Given the description of an element on the screen output the (x, y) to click on. 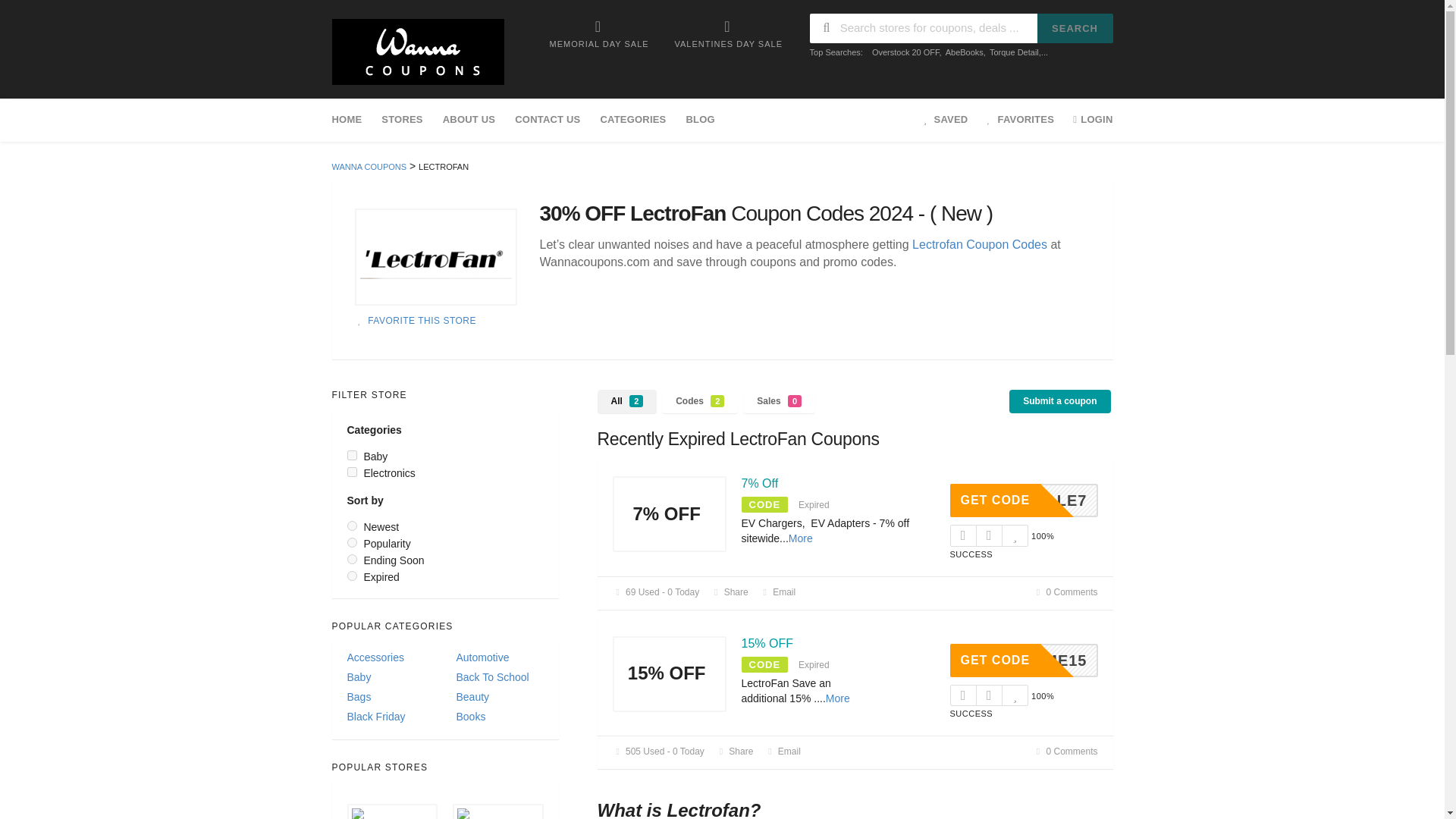
Sales 0 (778, 401)
SEARCH (1074, 28)
Codes 2 (700, 401)
expired (351, 575)
Go to Wanna Coupons. (369, 166)
CONTACT US (547, 119)
FAVORITE THIS STORE (416, 320)
CATEGORIES (632, 119)
Email (778, 592)
STORES (401, 119)
